Given the description of an element on the screen output the (x, y) to click on. 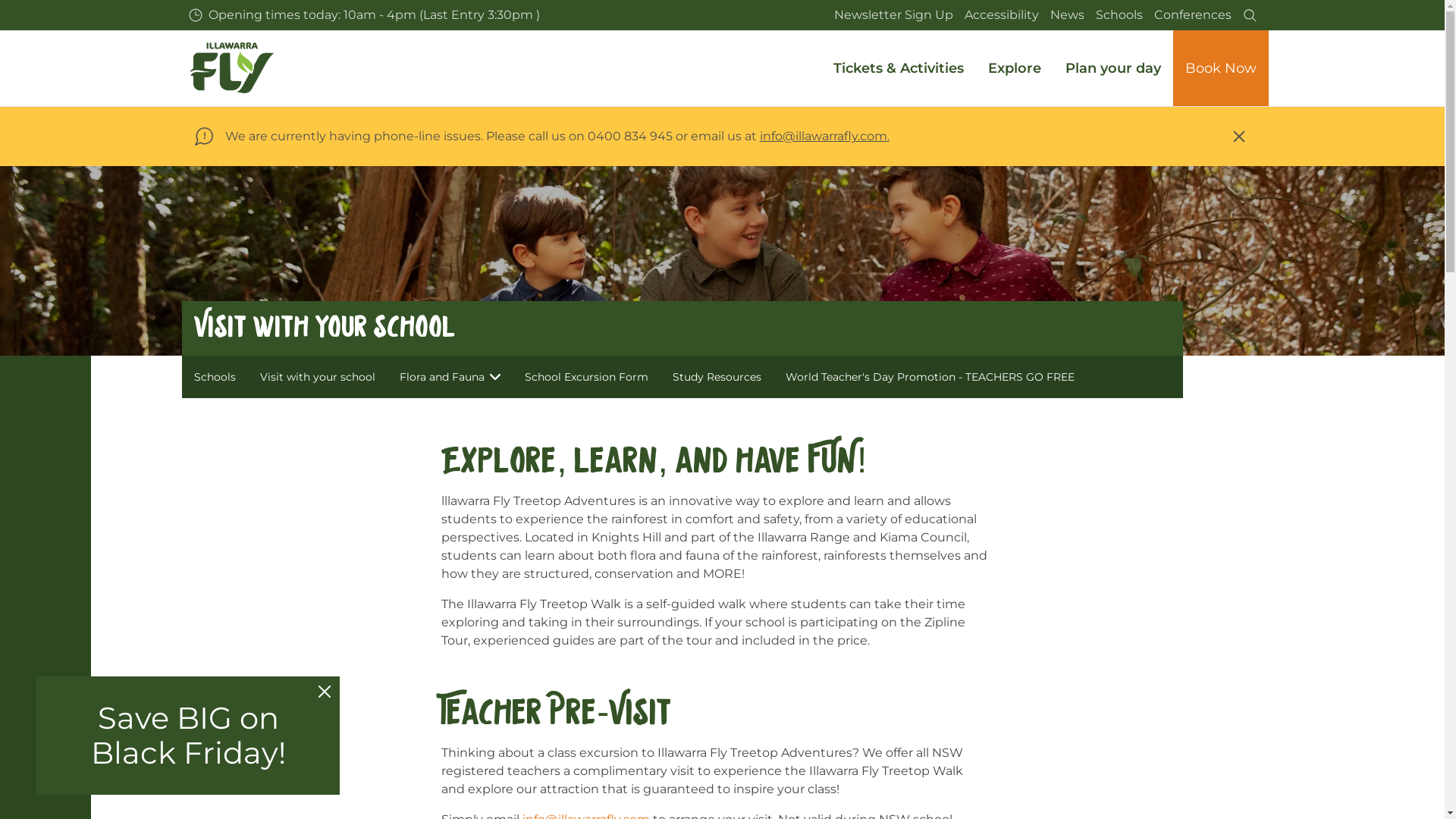
Plan your day Element type: text (1112, 68)
School Excursion Form Element type: text (586, 376)
Accessibility Element type: text (1000, 15)
Flora and Fauna Element type: text (449, 376)
Schools Element type: text (1119, 15)
Close Element type: text (324, 691)
World Teacher's Day Promotion - TEACHERS GO FREE Element type: text (929, 376)
Book Now Element type: text (1219, 68)
Opening times today: 10am - 4pm (Last Entry 3:30pm ) Element type: text (364, 14)
Newsletter Sign Up Element type: text (892, 15)
Study Resources Element type: text (716, 376)
Explore Element type: text (1013, 68)
Visit with your school Element type: text (317, 376)
Conferences Element type: text (1191, 15)
News Element type: text (1067, 15)
Schools Element type: text (214, 376)
Save BIG on Black Friday! Element type: text (187, 735)
Search Element type: text (1249, 14)
Tickets & Activities Element type: text (897, 68)
info@illawarrafly.com. Element type: text (824, 135)
Close Element type: text (1237, 136)
